Given the description of an element on the screen output the (x, y) to click on. 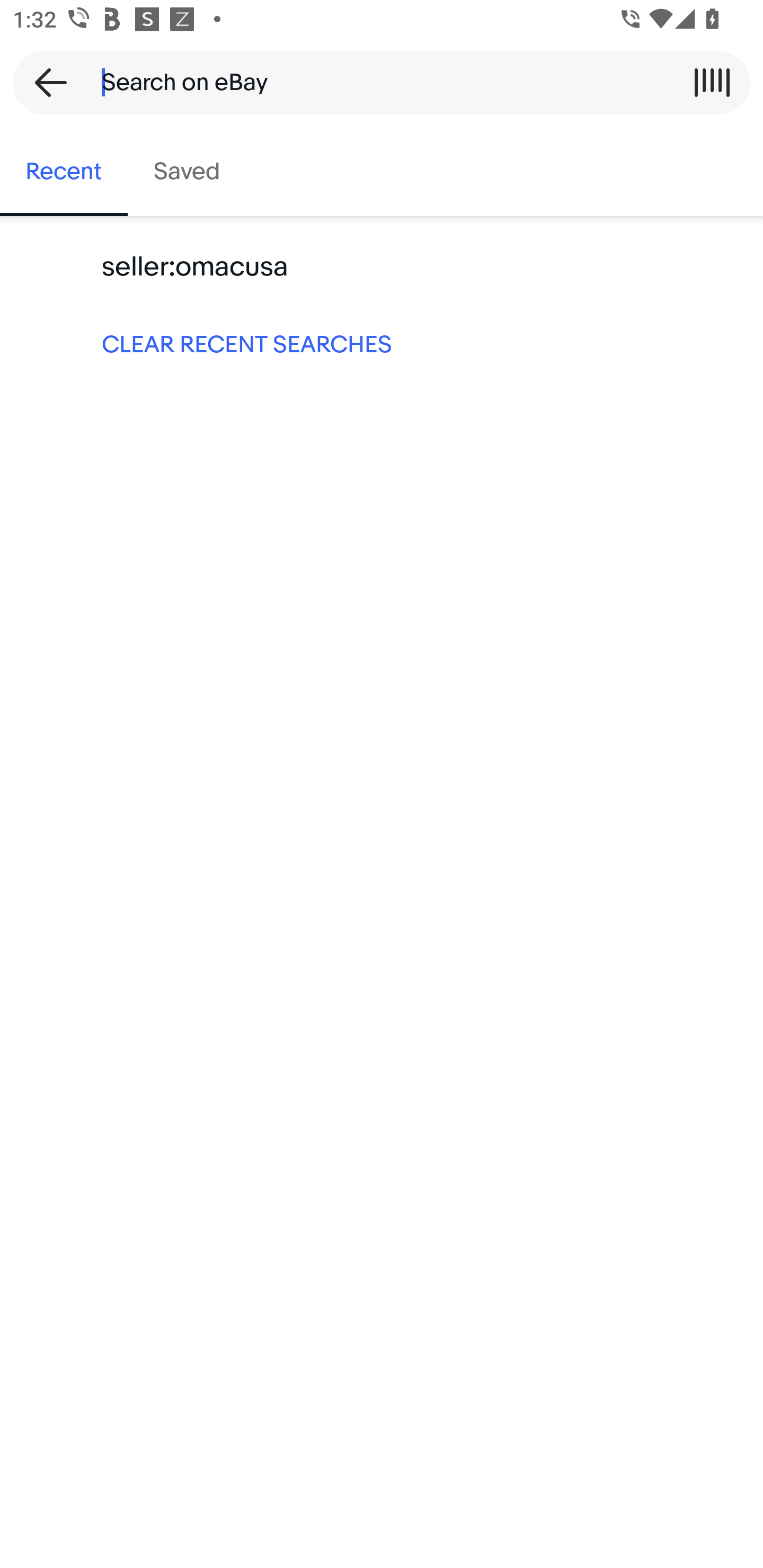
Back (44, 82)
Scan a barcode (711, 82)
Search on eBay (375, 82)
Saved, tab 2 of 2 Saved (186, 171)
seller:omacusa Keyword search seller:omacusa: (381, 266)
CLEAR RECENT SEARCHES (381, 343)
